Given the description of an element on the screen output the (x, y) to click on. 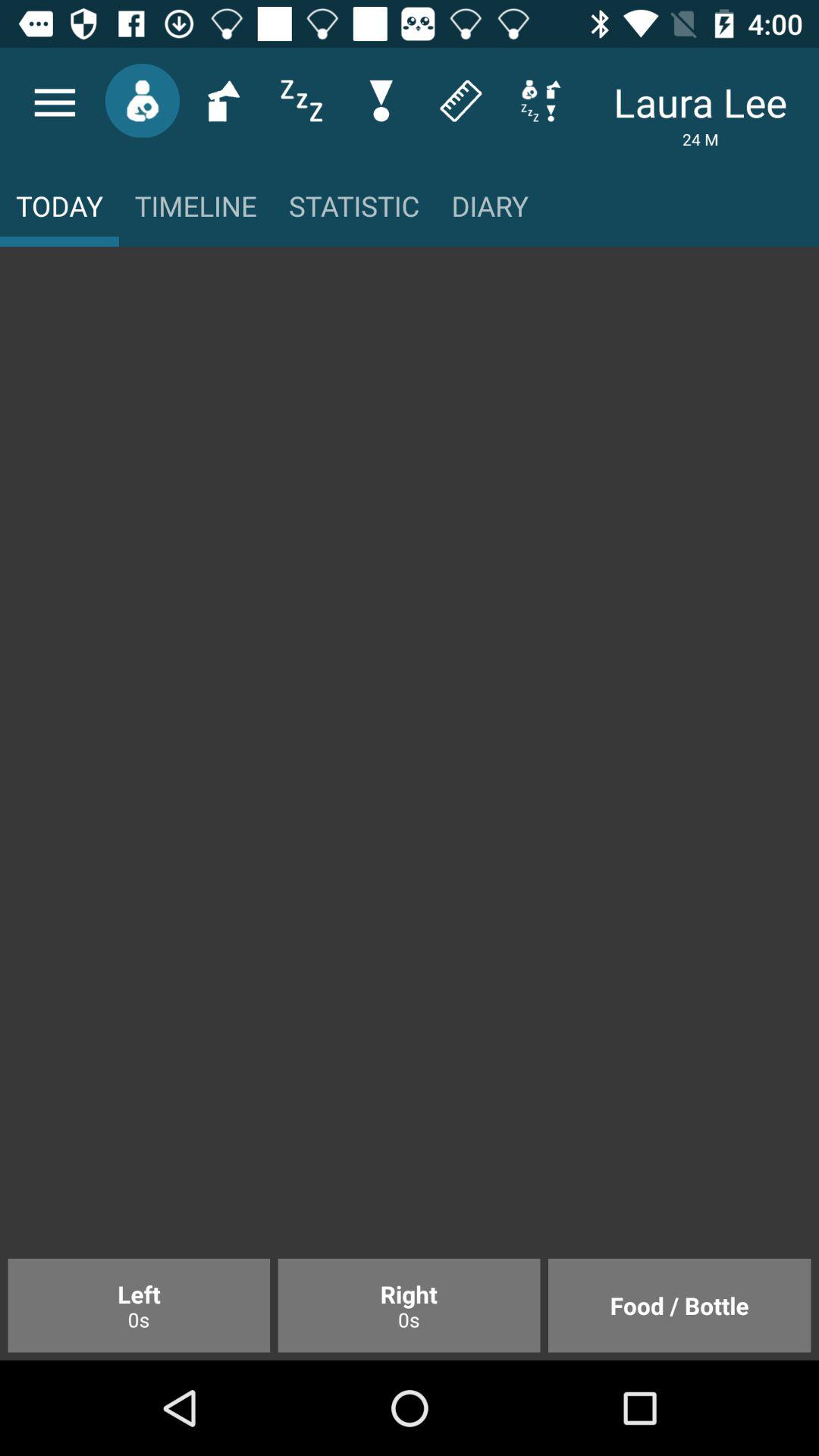
turn off item next to the right
0s (138, 1305)
